Given the description of an element on the screen output the (x, y) to click on. 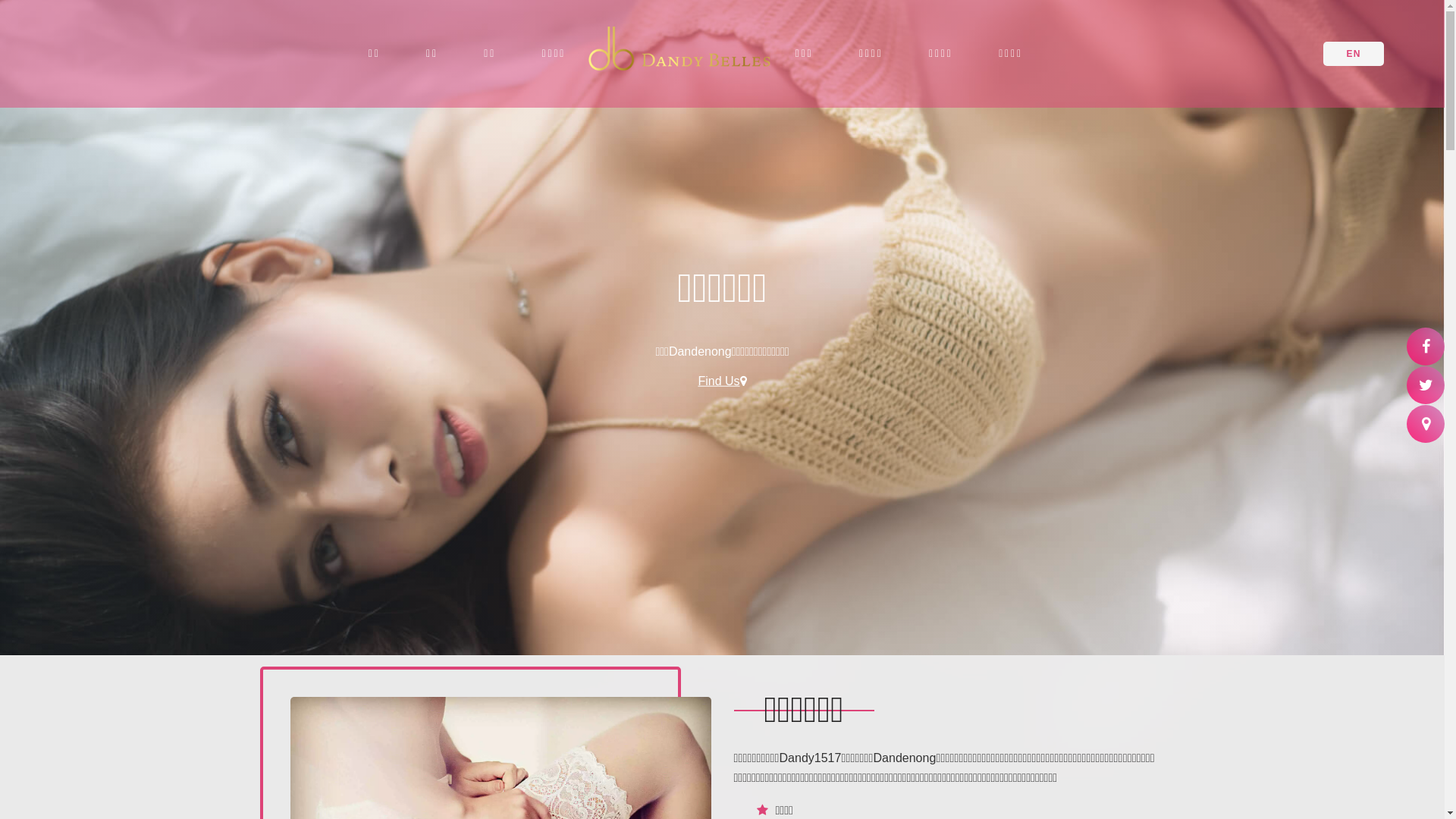
Find Us Element type: text (721, 381)
EN Element type: text (1353, 53)
